Given the description of an element on the screen output the (x, y) to click on. 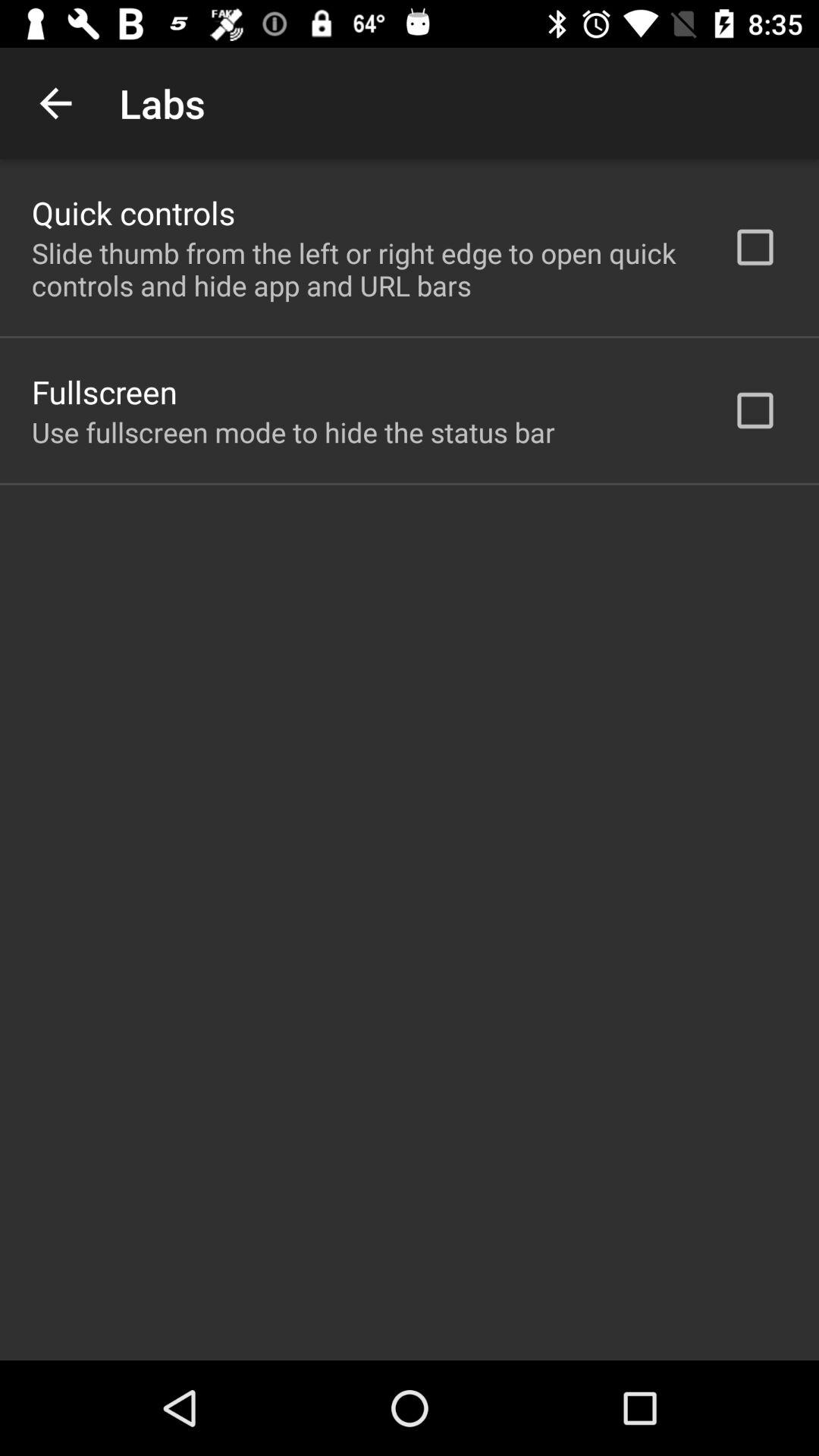
tap use fullscreen mode (293, 432)
